Given the description of an element on the screen output the (x, y) to click on. 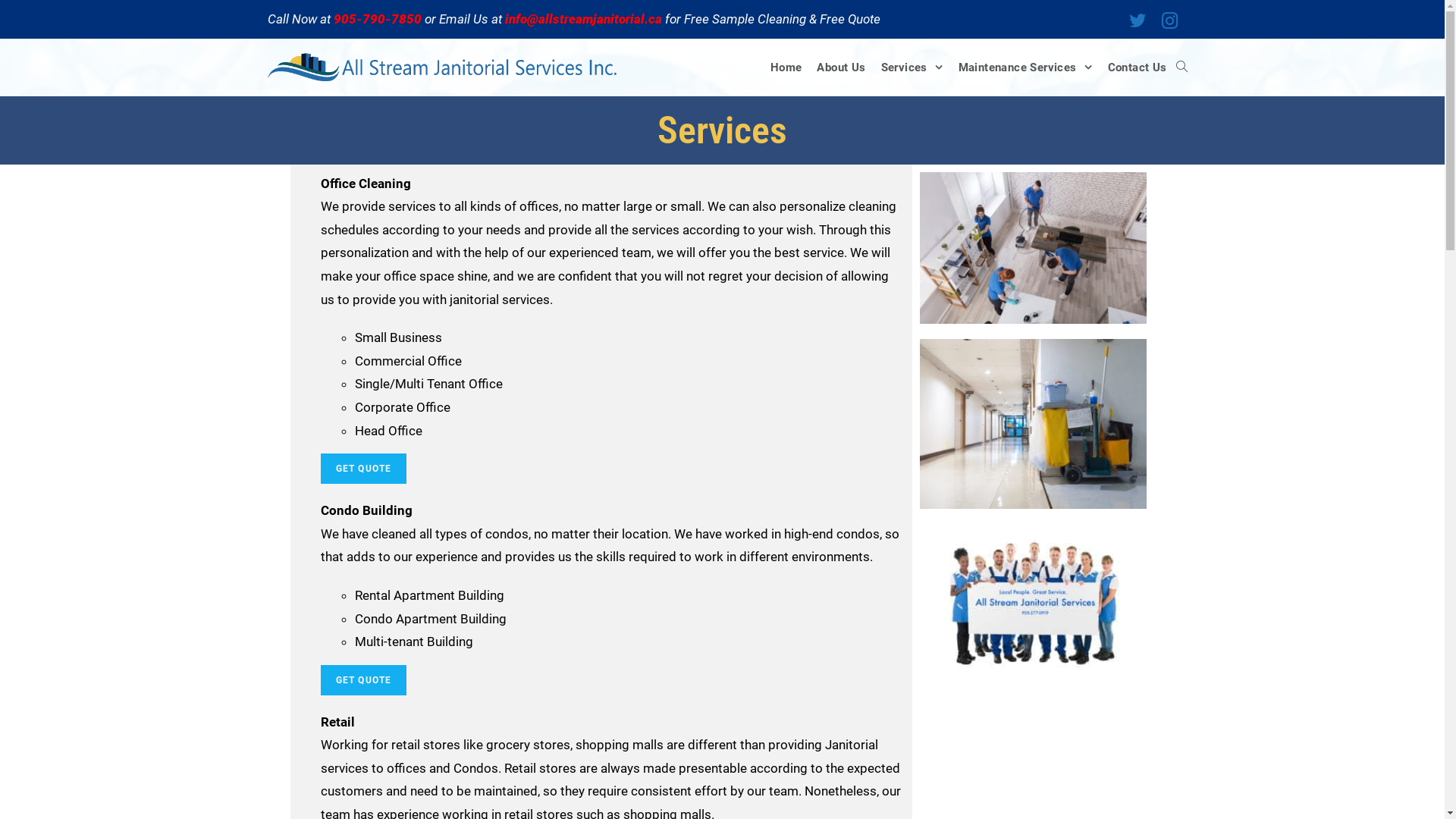
About Us Element type: text (840, 67)
Twitter Element type: hover (1136, 20)
GET QUOTE Element type: text (363, 680)
Contact Us Element type: text (1136, 67)
Maintenance Services Element type: text (1025, 67)
GET QUOTE Element type: text (363, 468)
Home Element type: text (785, 67)
Instagram Element type: hover (1165, 20)
Services Element type: text (911, 67)
